Given the description of an element on the screen output the (x, y) to click on. 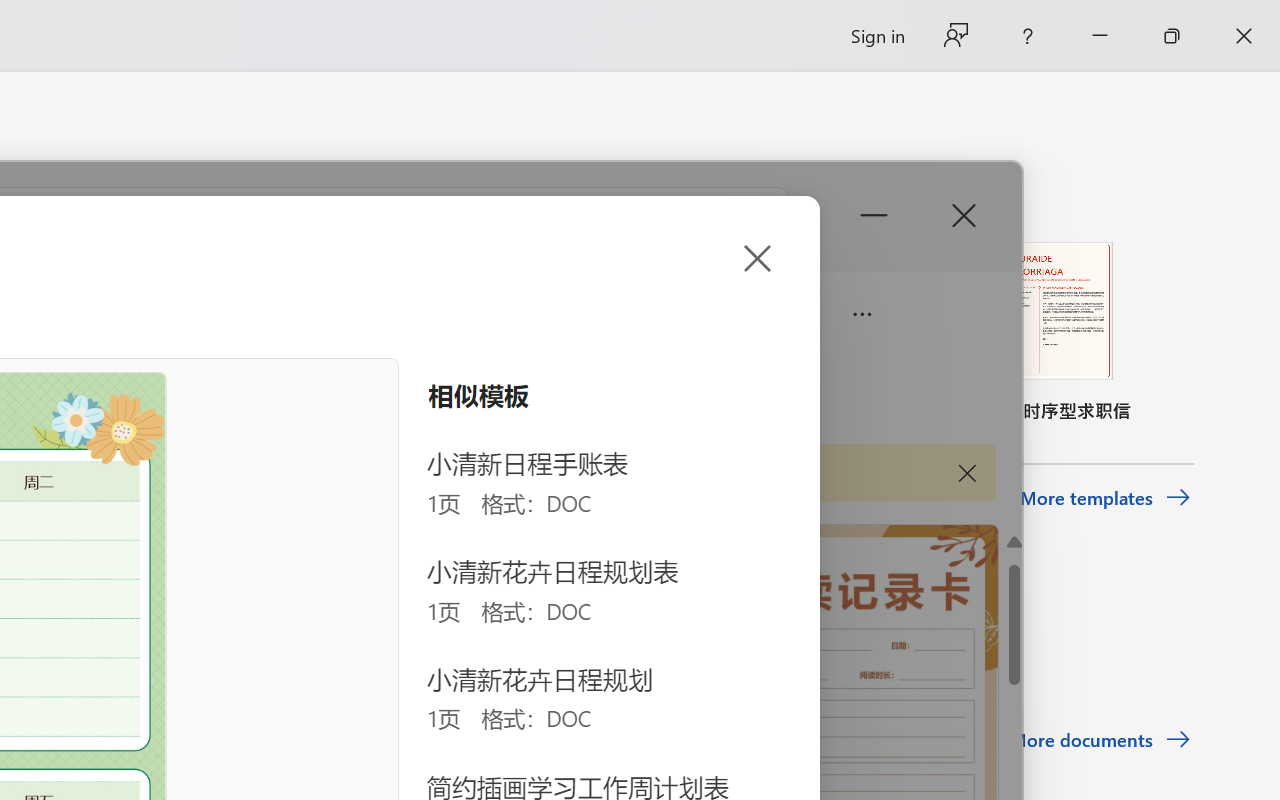
More templates (1105, 498)
More documents (1100, 740)
Sign in (875, 35)
